Given the description of an element on the screen output the (x, y) to click on. 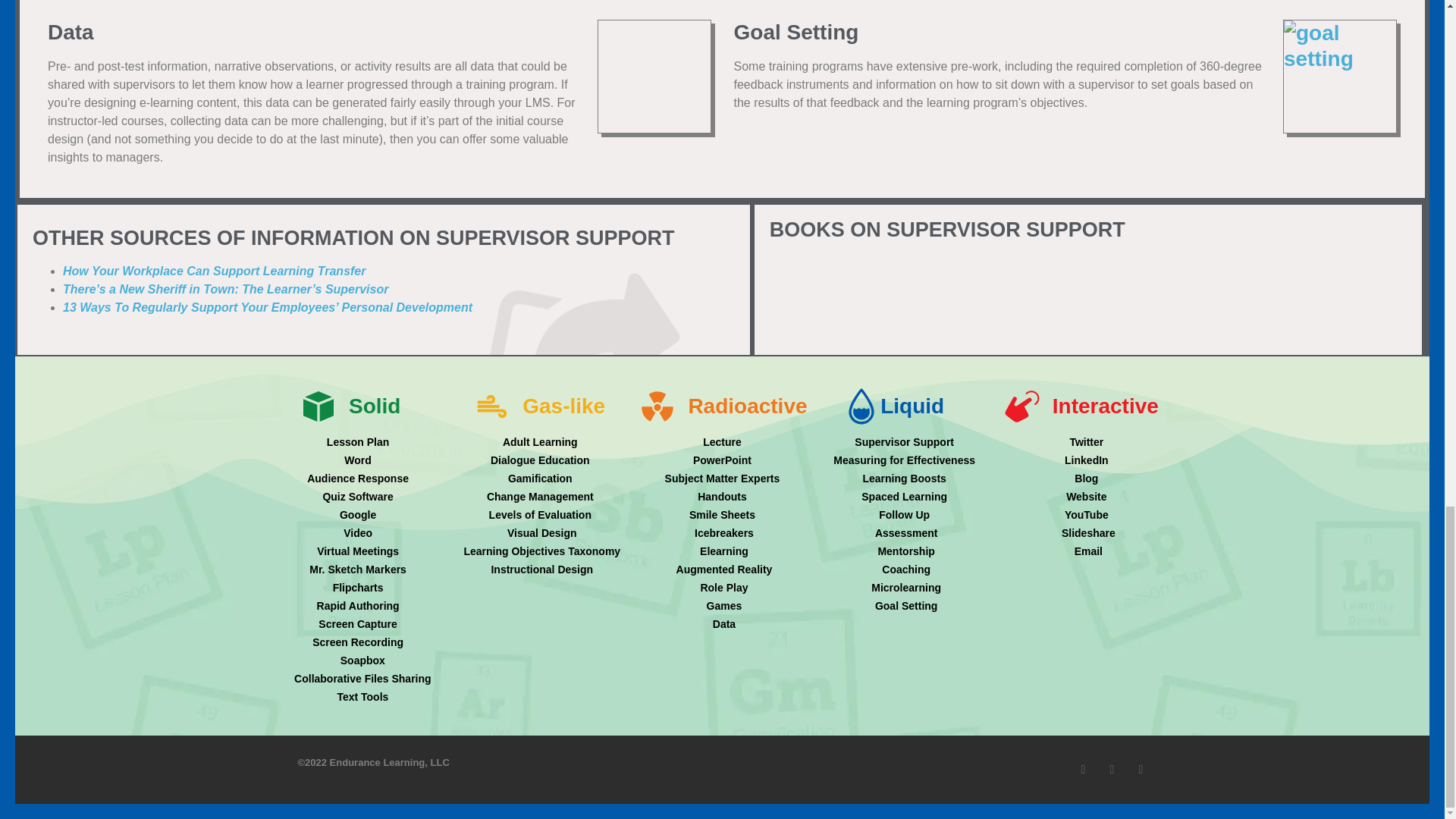
Adult Learning (540, 442)
Dialogue Education (540, 460)
Soapbox (358, 660)
Gamification (540, 478)
Quiz Software (358, 496)
Change Management (540, 496)
Audience Response (358, 478)
Screen Capture (358, 624)
Levels of Evaluation (540, 514)
Virtual Meetings (358, 551)
